Given the description of an element on the screen output the (x, y) to click on. 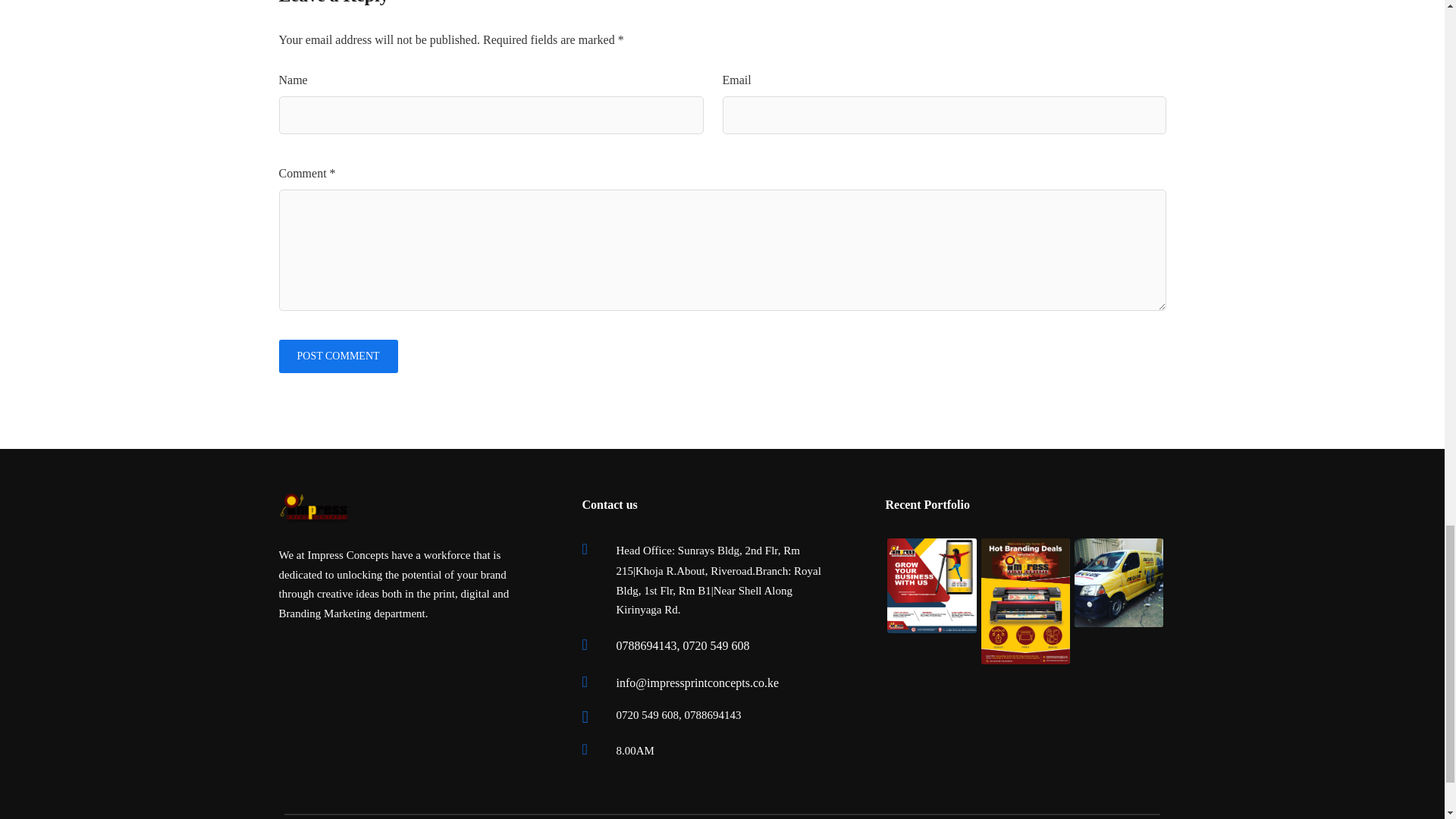
Post Comment (338, 356)
